Given the description of an element on the screen output the (x, y) to click on. 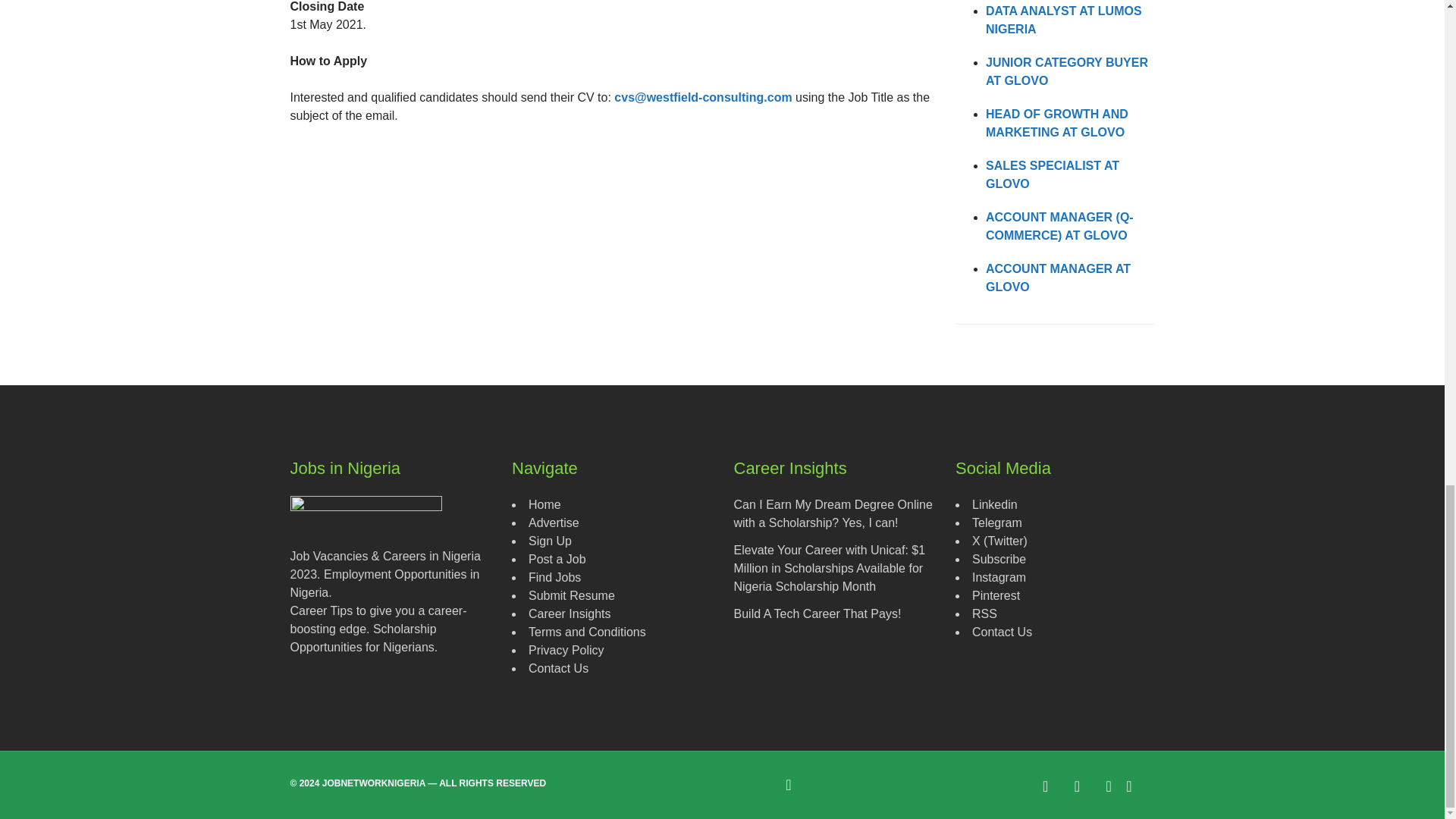
ACCOUNT MANAGER AT GLOVO (1058, 277)
DATA ANALYST AT LUMOS NIGERIA (1063, 20)
JUNIOR CATEGORY BUYER AT GLOVO (1066, 71)
SALES SPECIALIST AT GLOVO (1052, 174)
HEAD OF GROWTH AND MARKETING AT GLOVO (1056, 122)
